Given the description of an element on the screen output the (x, y) to click on. 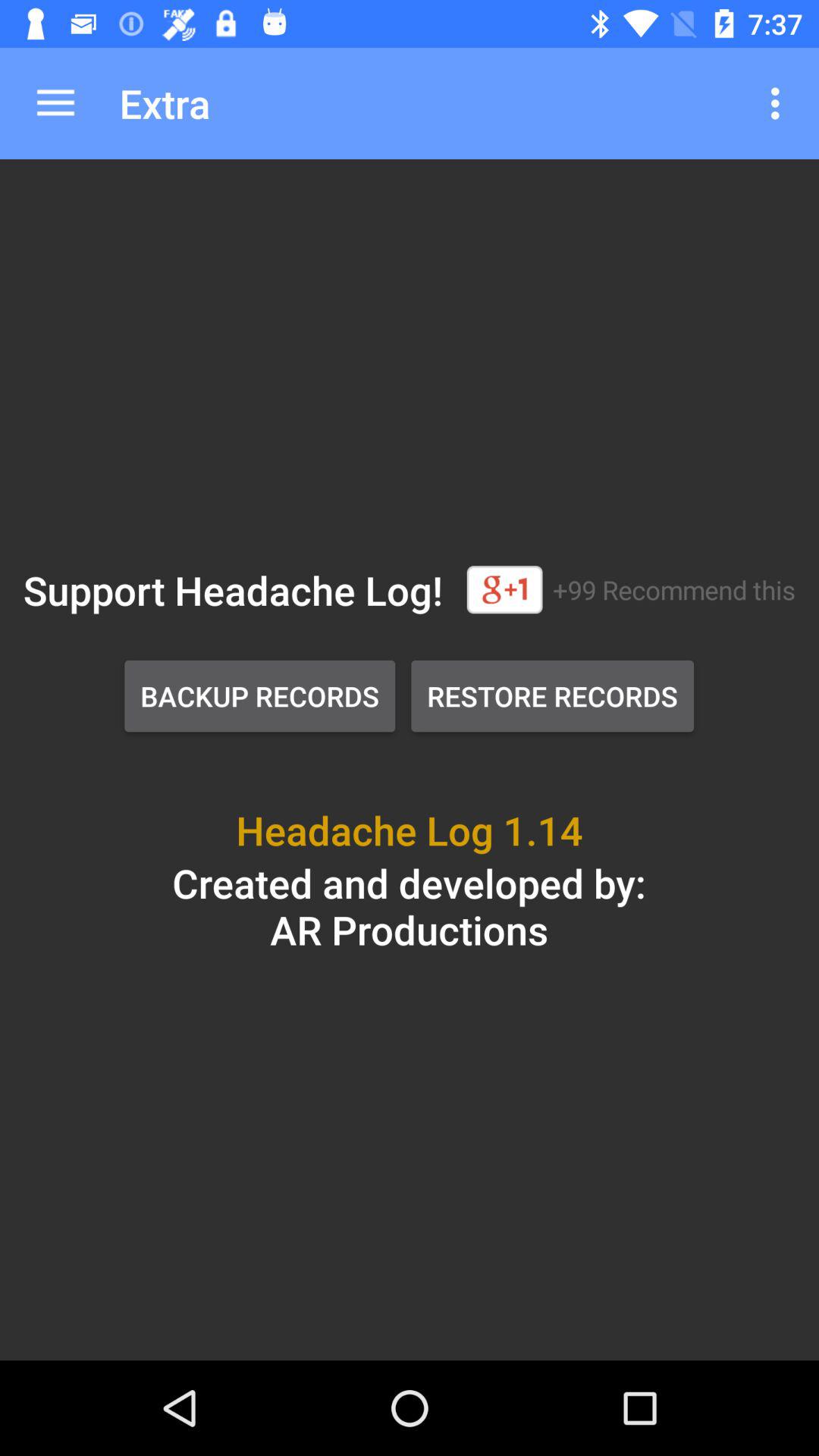
turn off item above the +99 recommend this icon (779, 103)
